Given the description of an element on the screen output the (x, y) to click on. 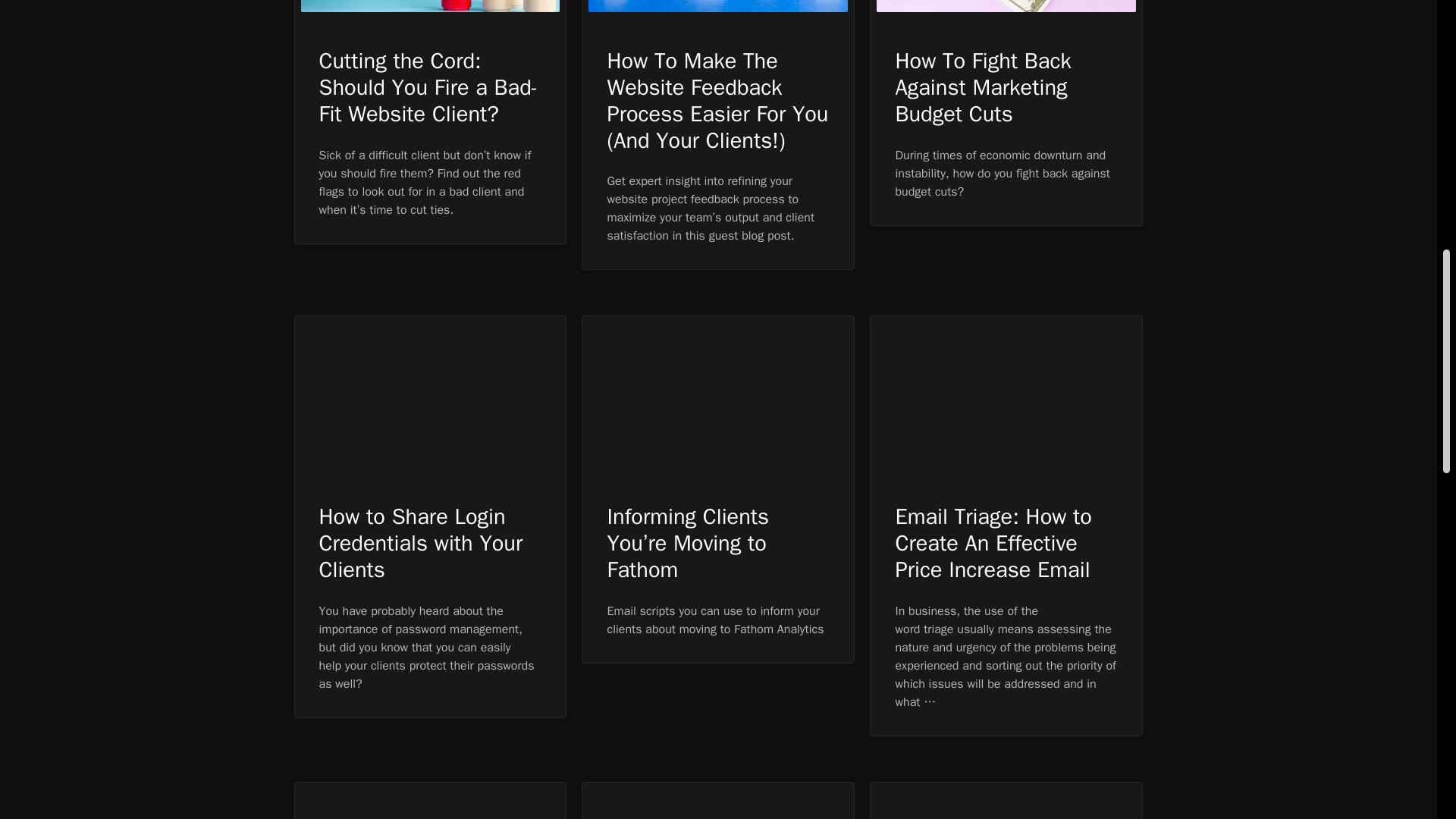
How To Fight Back Against Marketing Budget Cuts (982, 86)
Cutting the Cord: Should You Fire a Bad-Fit Website Client? (427, 86)
How to Share Login Credentials with Your Clients (420, 542)
